Given the description of an element on the screen output the (x, y) to click on. 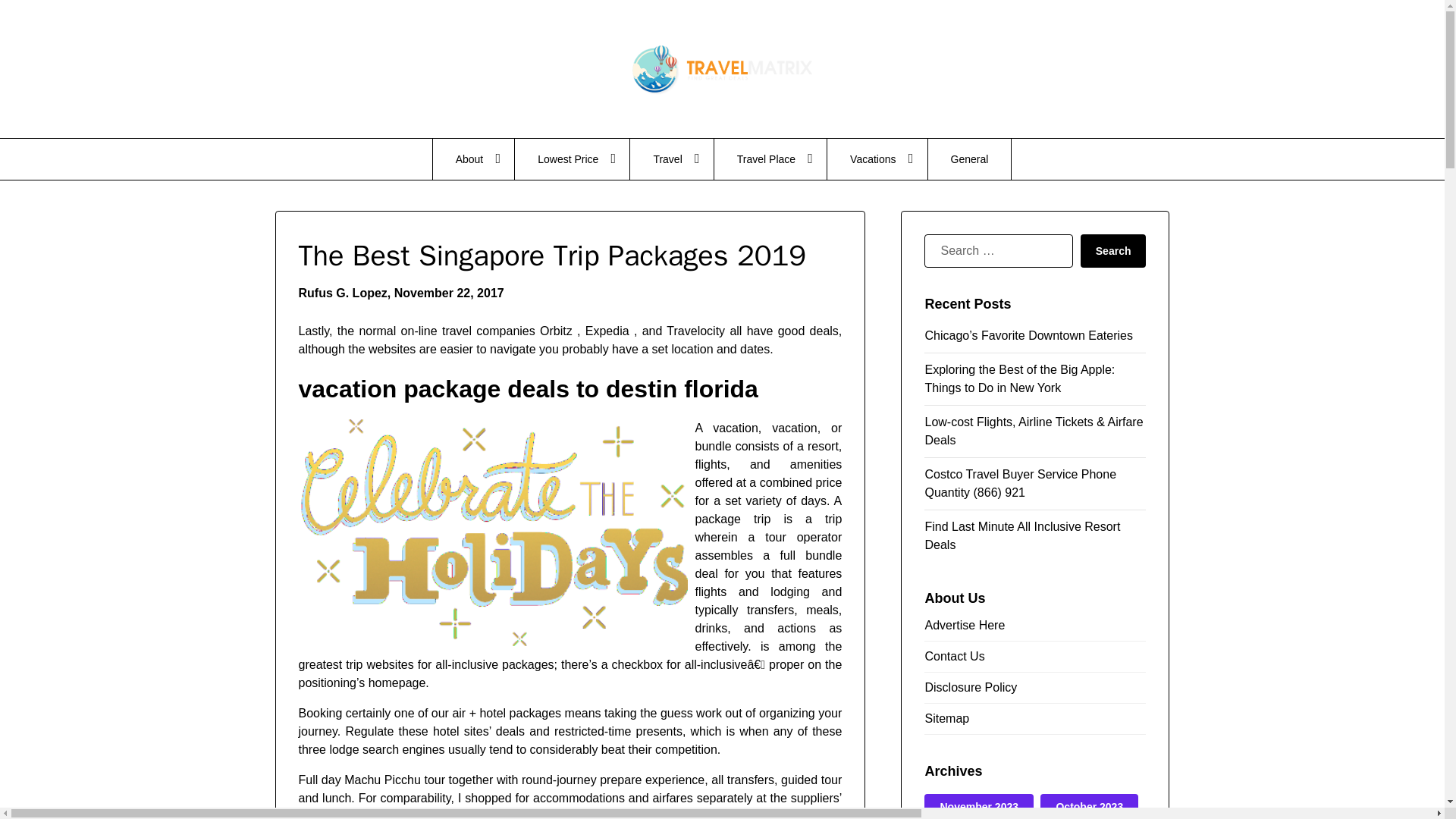
Lowest Price (571, 158)
About (473, 158)
Vacations (876, 158)
Search (1113, 250)
General (969, 158)
Travel Place (770, 158)
November 22, 2017 (448, 292)
Search (1113, 250)
Travel (671, 158)
